Given the description of an element on the screen output the (x, y) to click on. 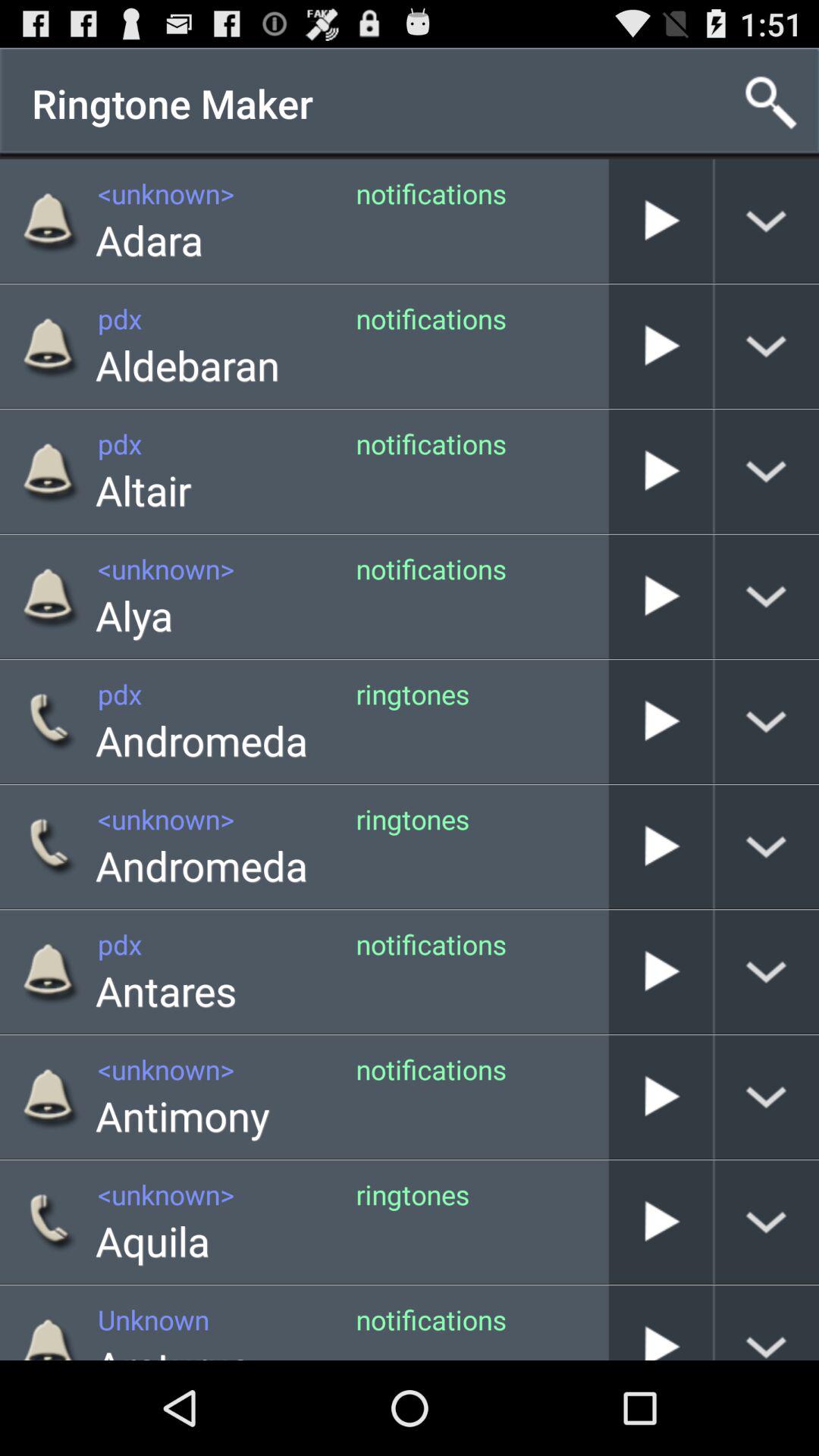
open menu (767, 1222)
